Given the description of an element on the screen output the (x, y) to click on. 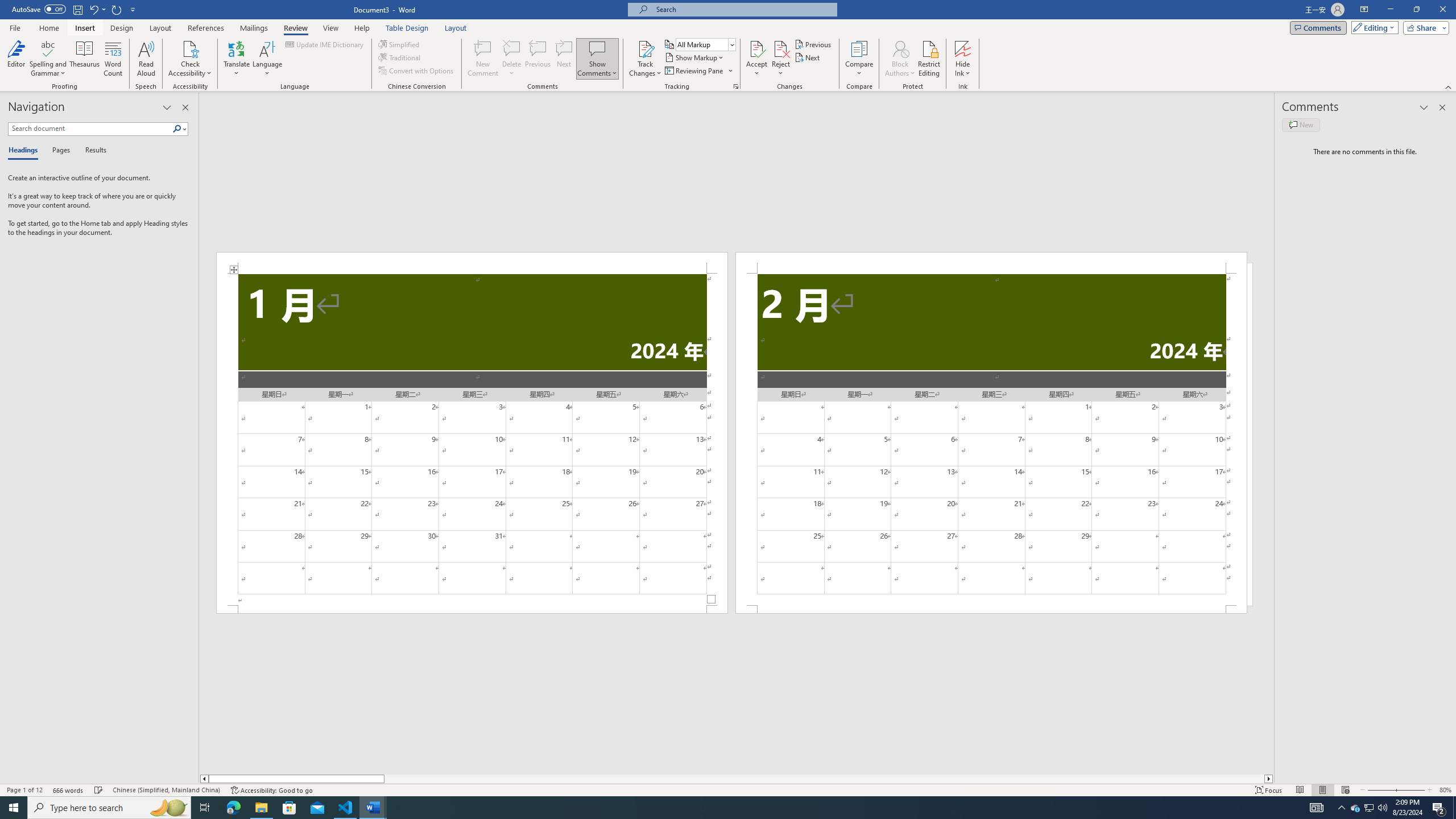
Update IME Dictionary... (324, 44)
Convert with Options... (417, 69)
Hide Ink (962, 48)
Header -Section 2- (991, 263)
Translate (236, 58)
Show Comments (597, 48)
